Given the description of an element on the screen output the (x, y) to click on. 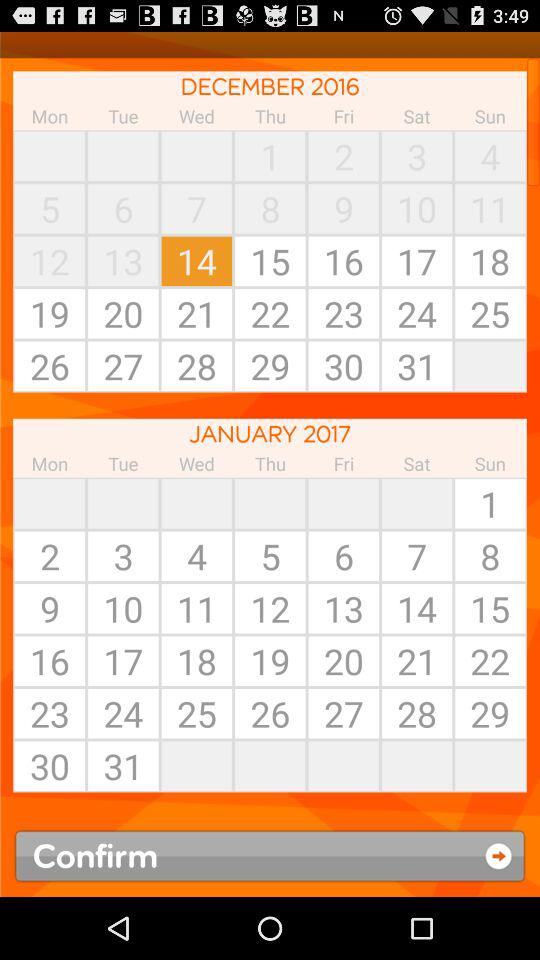
click icon next to sun app (417, 503)
